Given the description of an element on the screen output the (x, y) to click on. 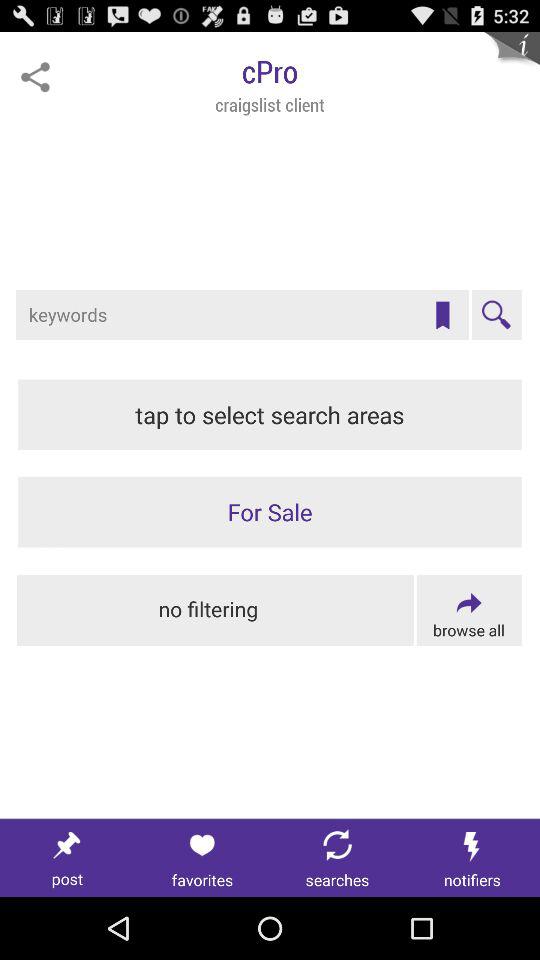
search by keywords (242, 315)
